Given the description of an element on the screen output the (x, y) to click on. 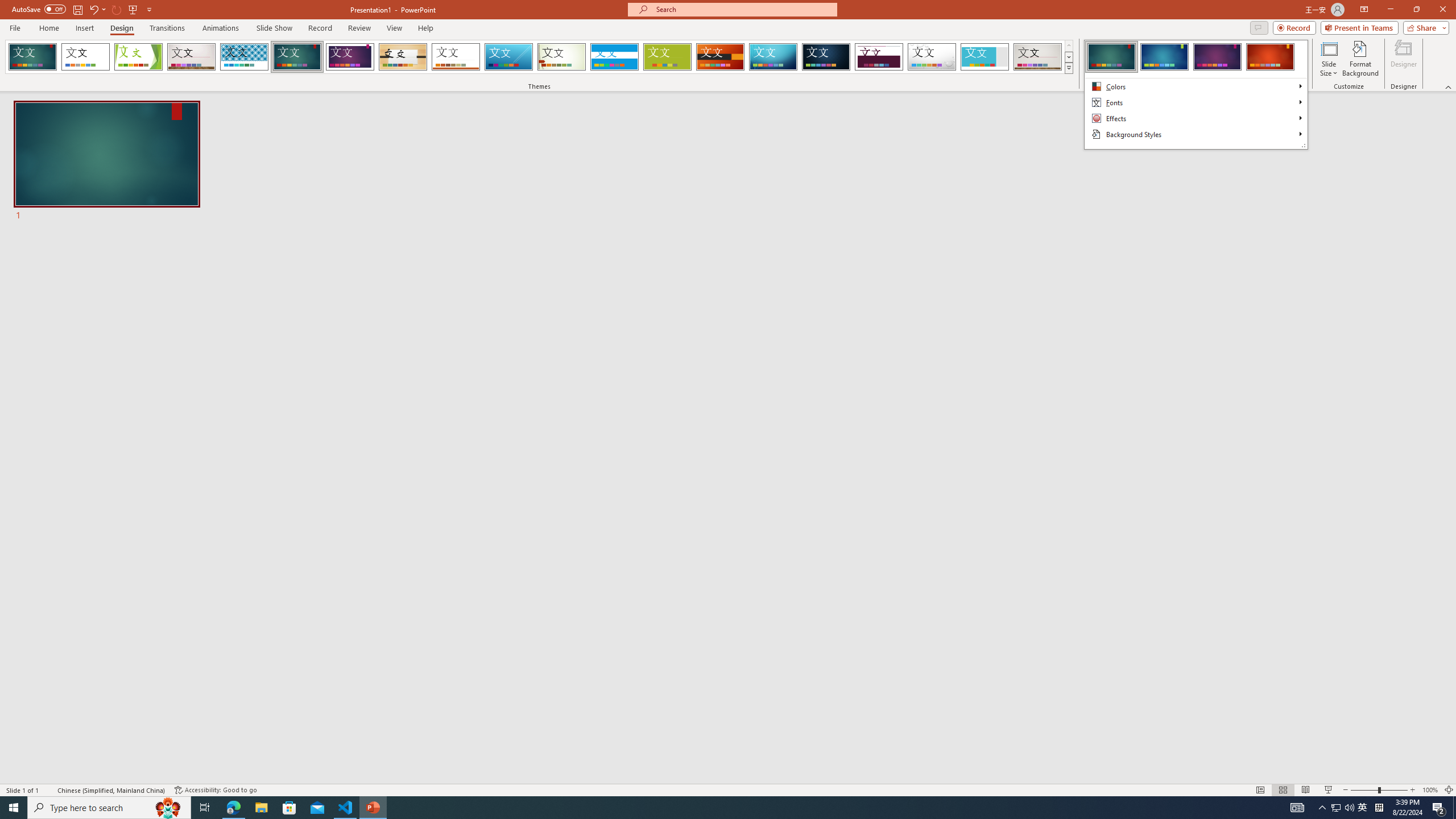
Organic Loading Preview... (403, 56)
Berlin Loading Preview... (720, 56)
Class: Net UI Tool Window (1195, 94)
Damask Loading Preview... (826, 56)
